Given the description of an element on the screen output the (x, y) to click on. 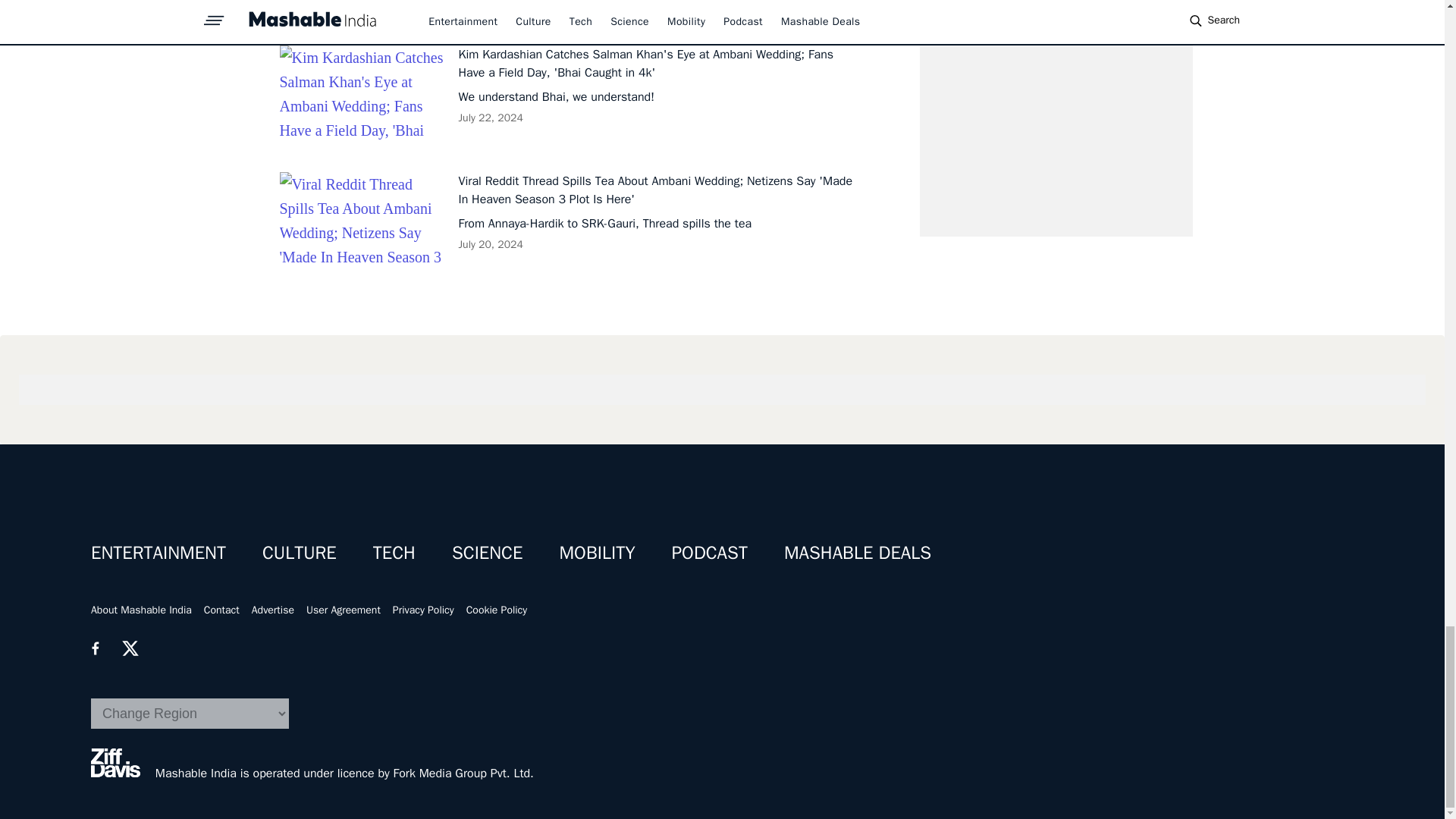
ENTERTAINMENT (157, 552)
